Given the description of an element on the screen output the (x, y) to click on. 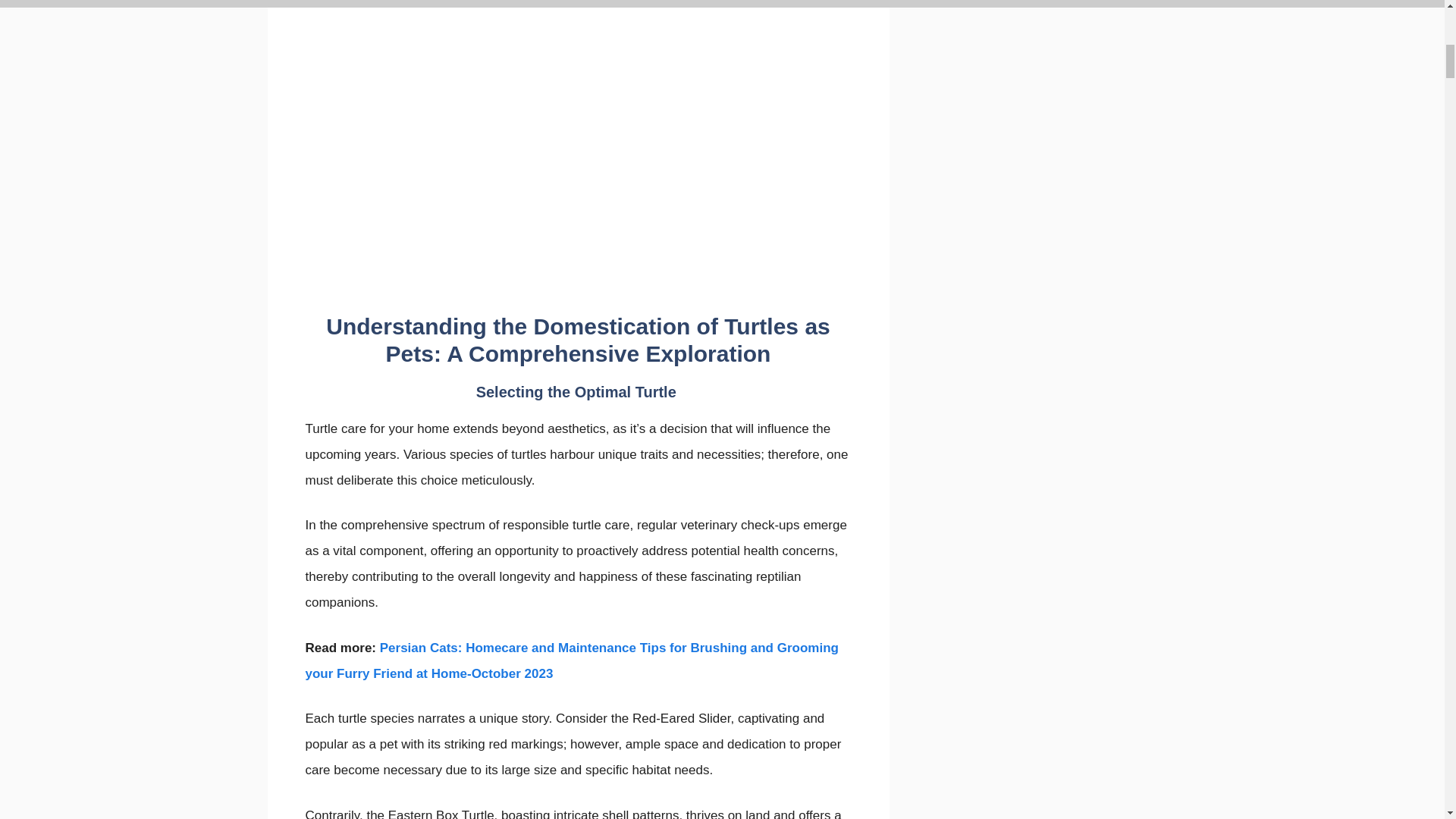
Scroll back to top (1406, 720)
